Given the description of an element on the screen output the (x, y) to click on. 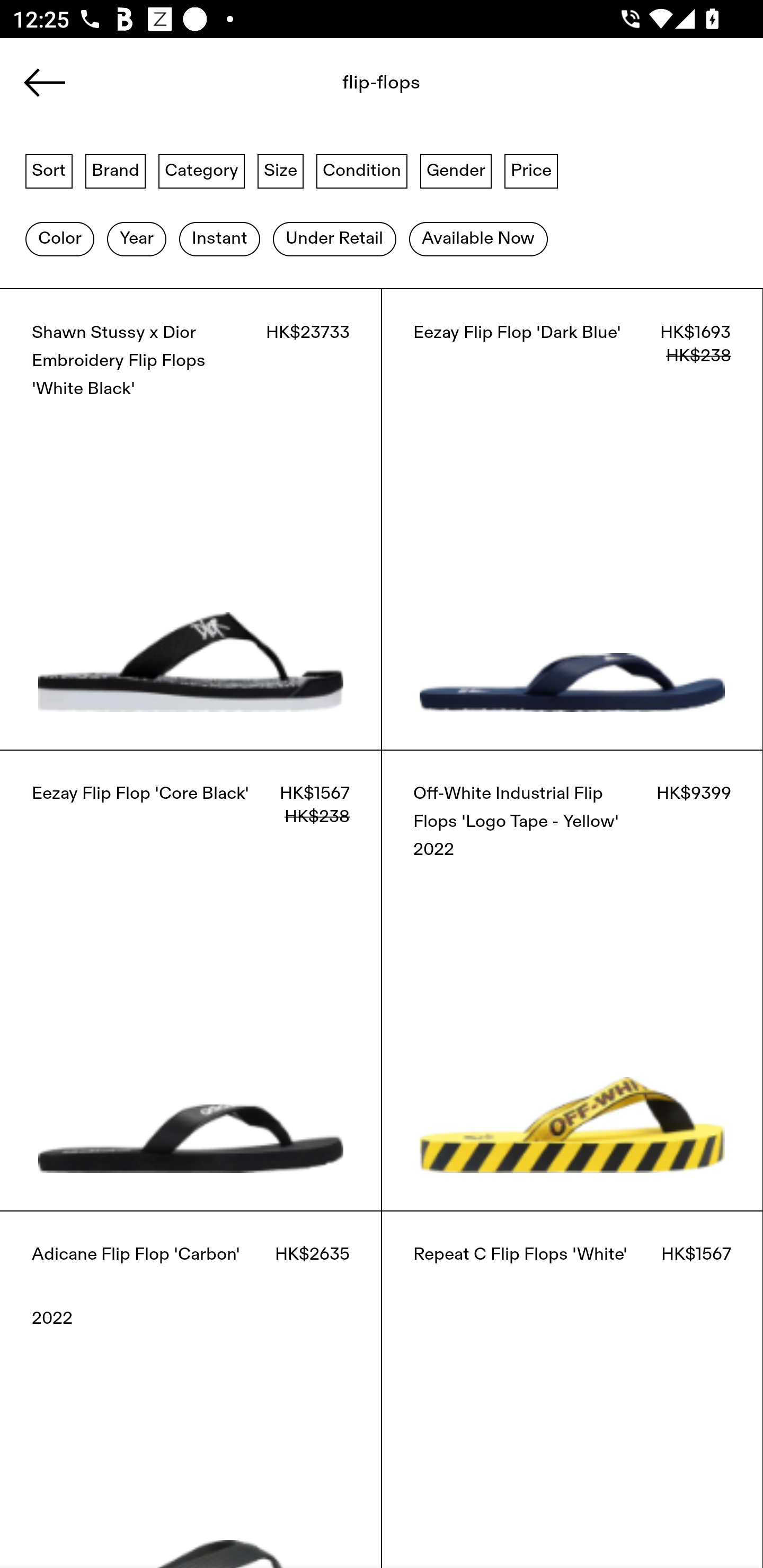
Search (340, 88)
Sort (48, 170)
Brand (115, 170)
Category (201, 170)
Size (280, 170)
Condition (361, 170)
Gender (455, 170)
Price (530, 170)
Color (59, 239)
Year (136, 239)
Instant (219, 239)
Under Retail (334, 239)
Available Now (477, 239)
Eezay Flip Flop 'Core Black' HK$1567 HK$238 (190, 979)
Adicane Flip Flop 'Carbon' HK$2635 2022 (190, 1389)
Repeat C Flip Flops 'White' HK$1567 (572, 1389)
